Given the description of an element on the screen output the (x, y) to click on. 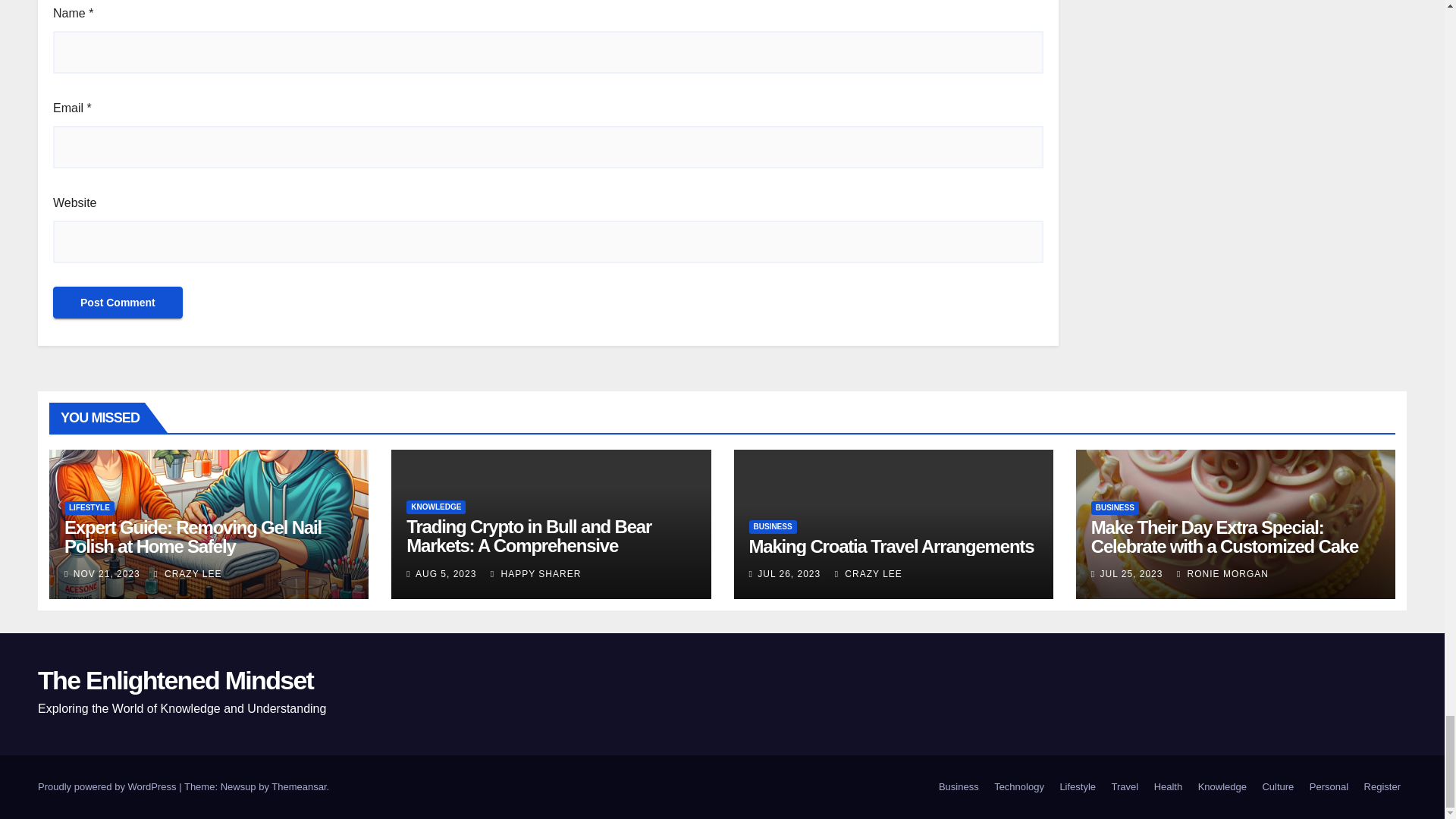
Post Comment (117, 302)
